Given the description of an element on the screen output the (x, y) to click on. 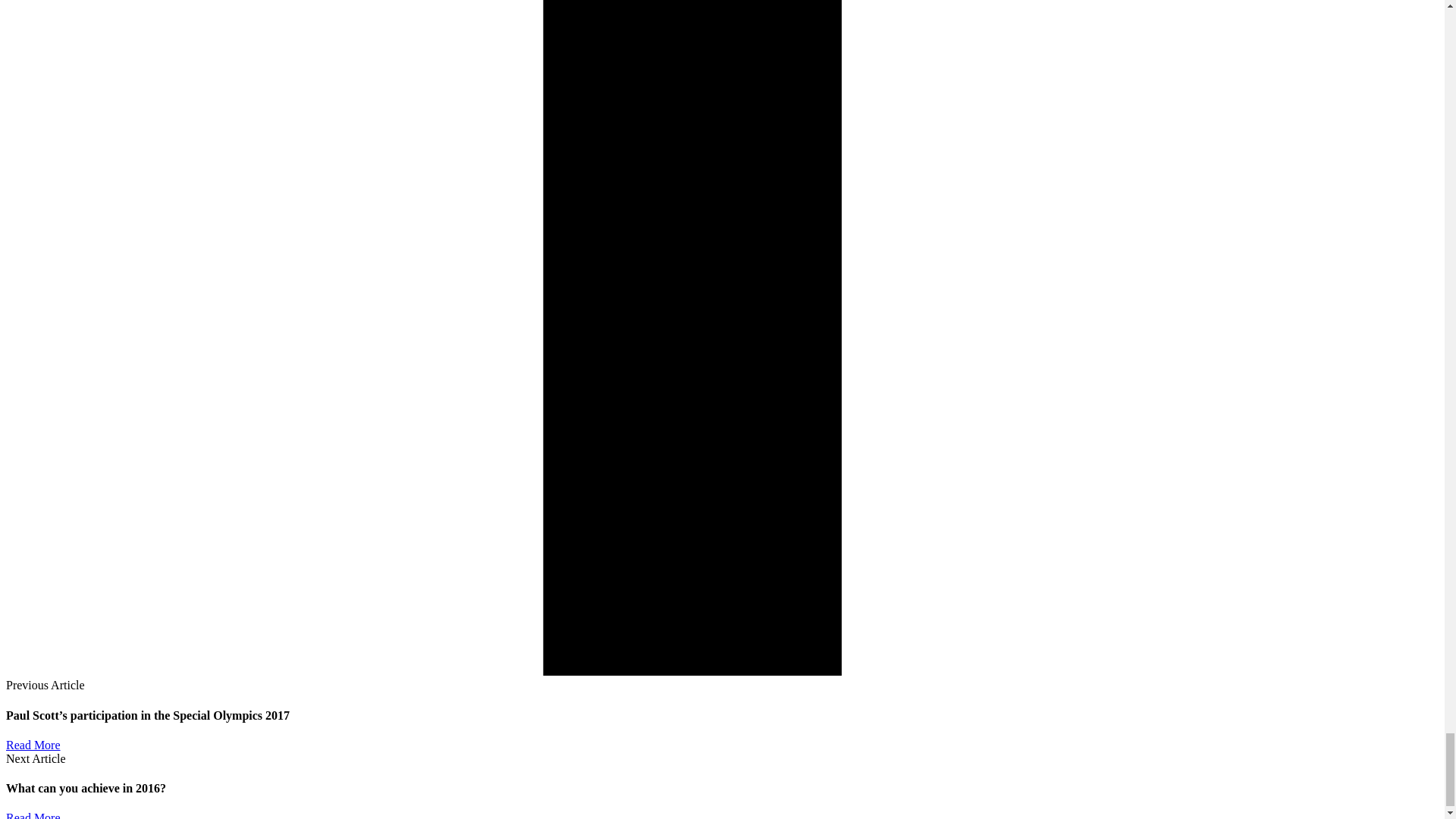
Read More (33, 744)
